Given the description of an element on the screen output the (x, y) to click on. 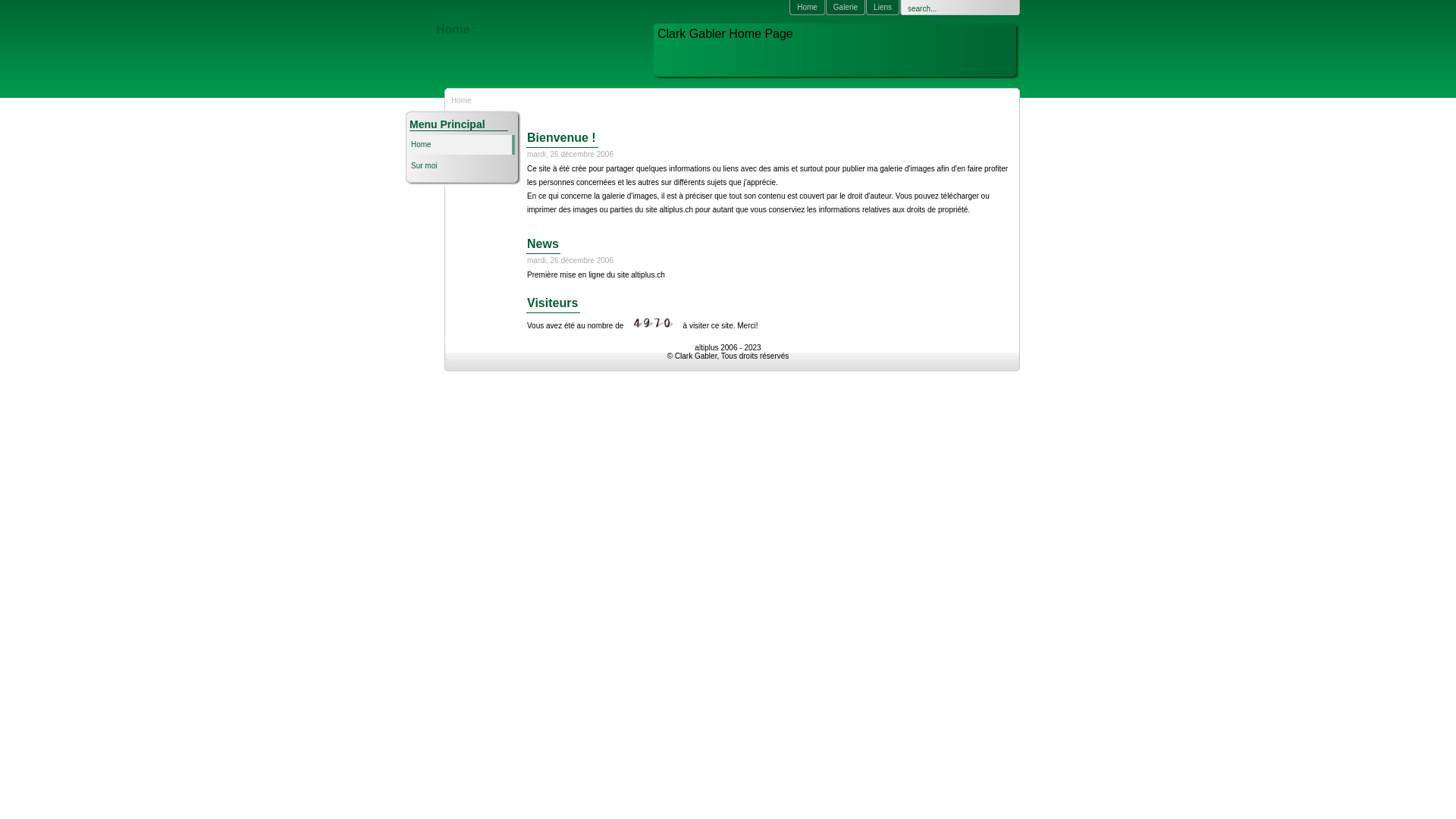
Galerie Element type: text (847, 7)
Sur moi Element type: text (460, 165)
Liens Element type: text (884, 7)
Home Element type: text (461, 144)
Home Element type: text (809, 7)
Home Element type: text (452, 28)
